Given the description of an element on the screen output the (x, y) to click on. 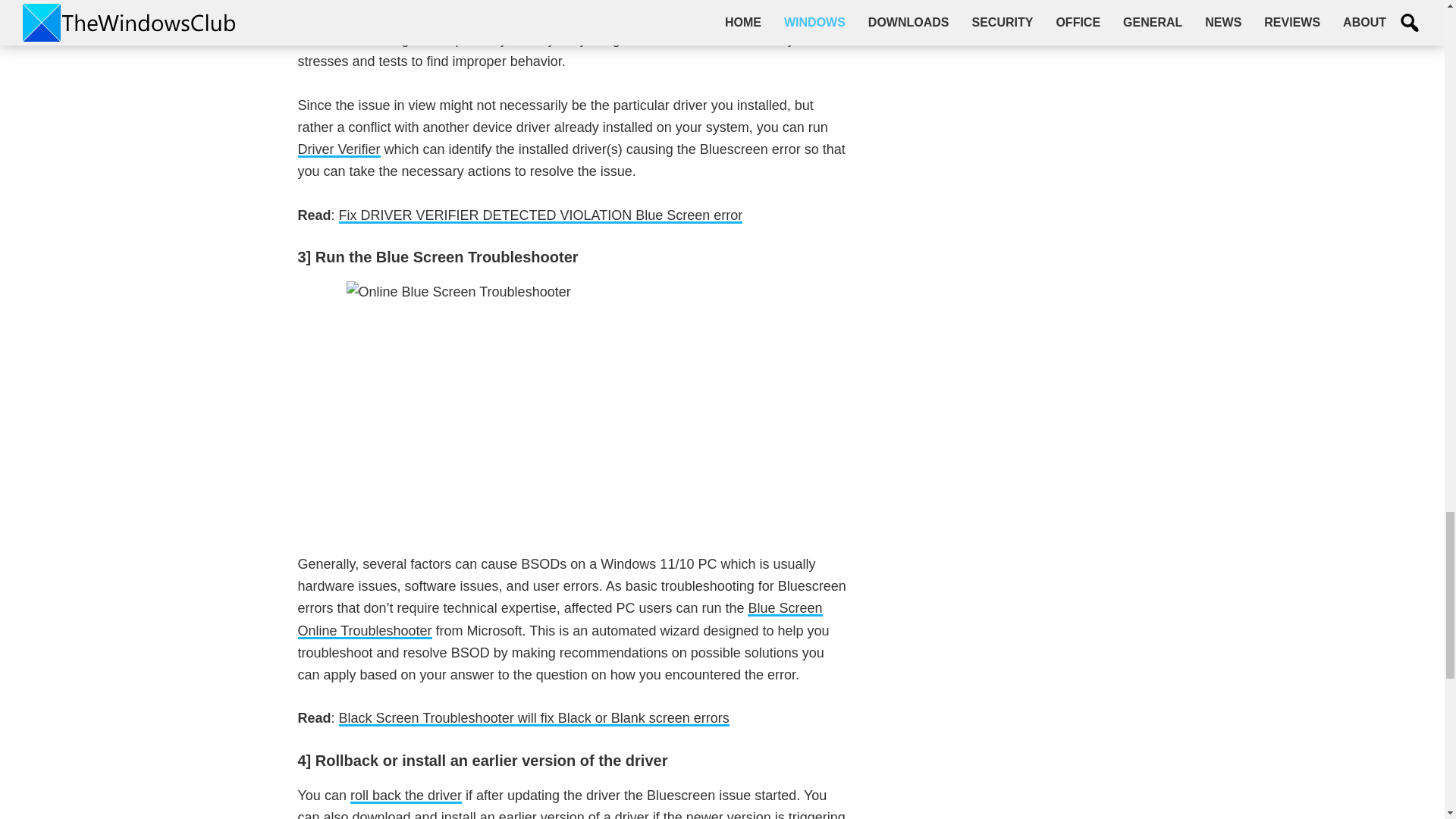
Fix DRIVER VERIFIER DETECTED VIOLATION Blue Screen error (540, 215)
Blue Screen Online Troubleshooter (559, 619)
Online Blue Screen Troubleshooter (573, 405)
roll back the driver (405, 795)
Driver Verifier (338, 149)
